Given the description of an element on the screen output the (x, y) to click on. 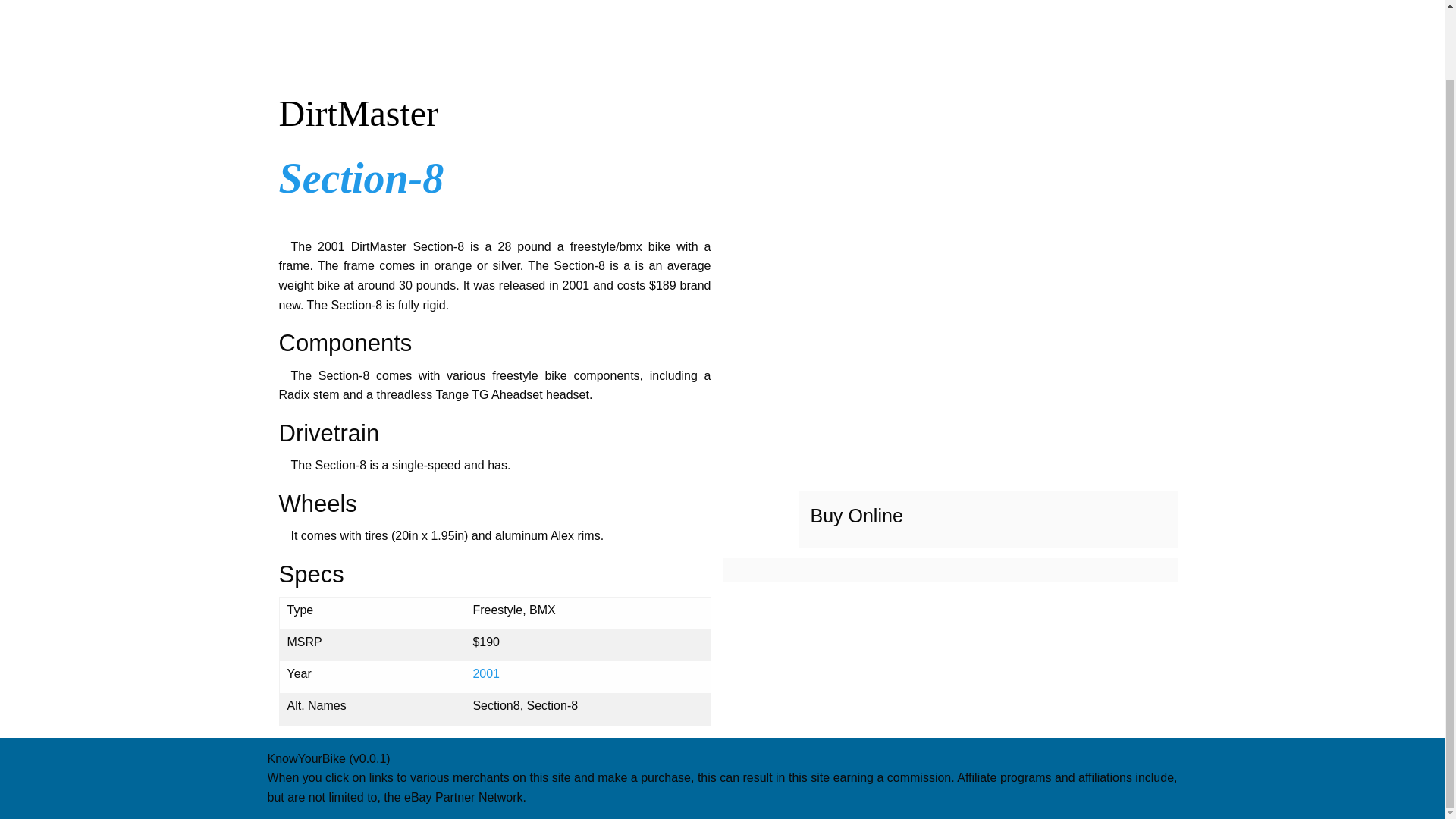
2001 (485, 673)
Section-8 (361, 177)
DirtMaster (495, 112)
